Given the description of an element on the screen output the (x, y) to click on. 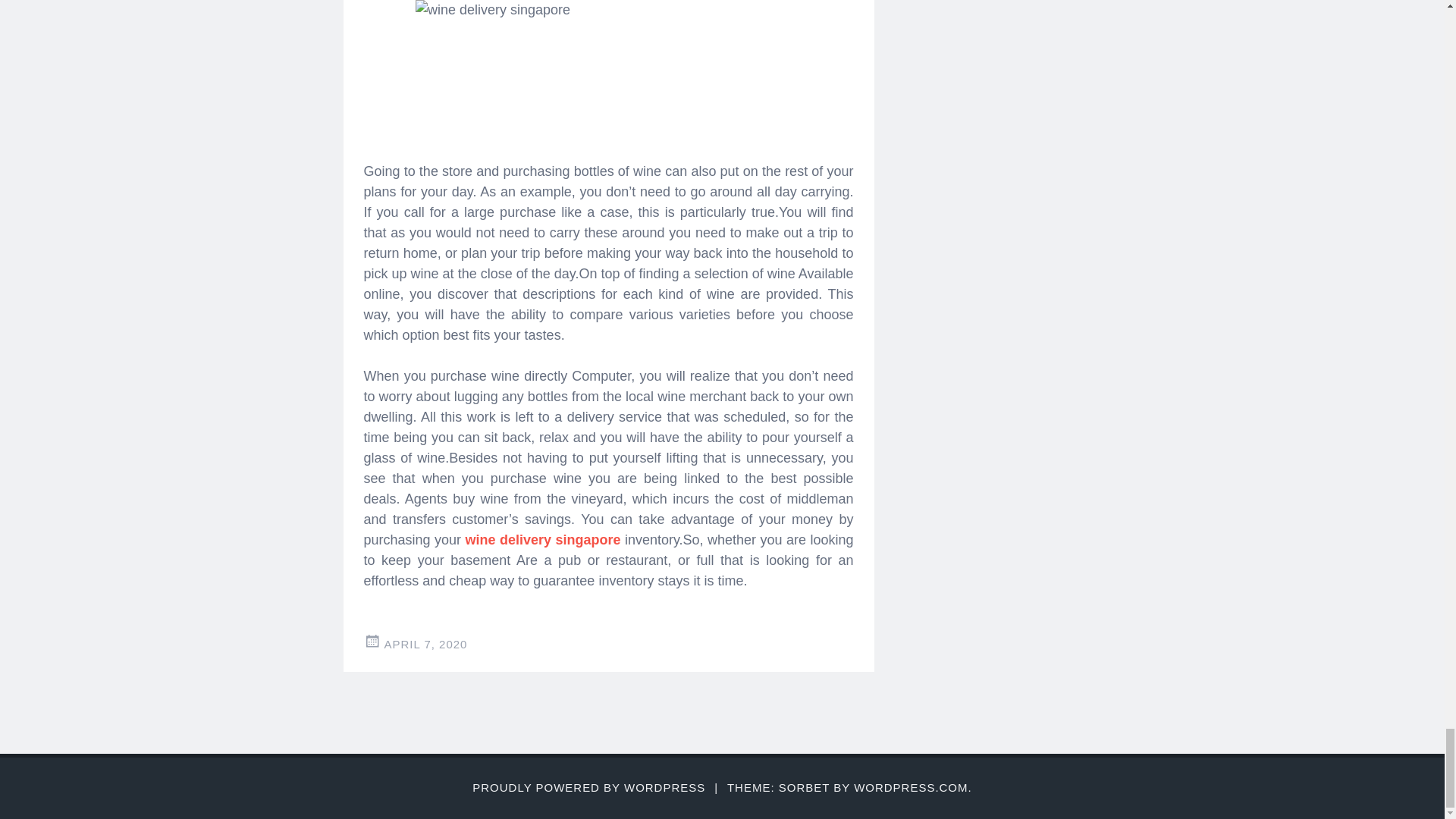
7:51 am (425, 644)
